Given the description of an element on the screen output the (x, y) to click on. 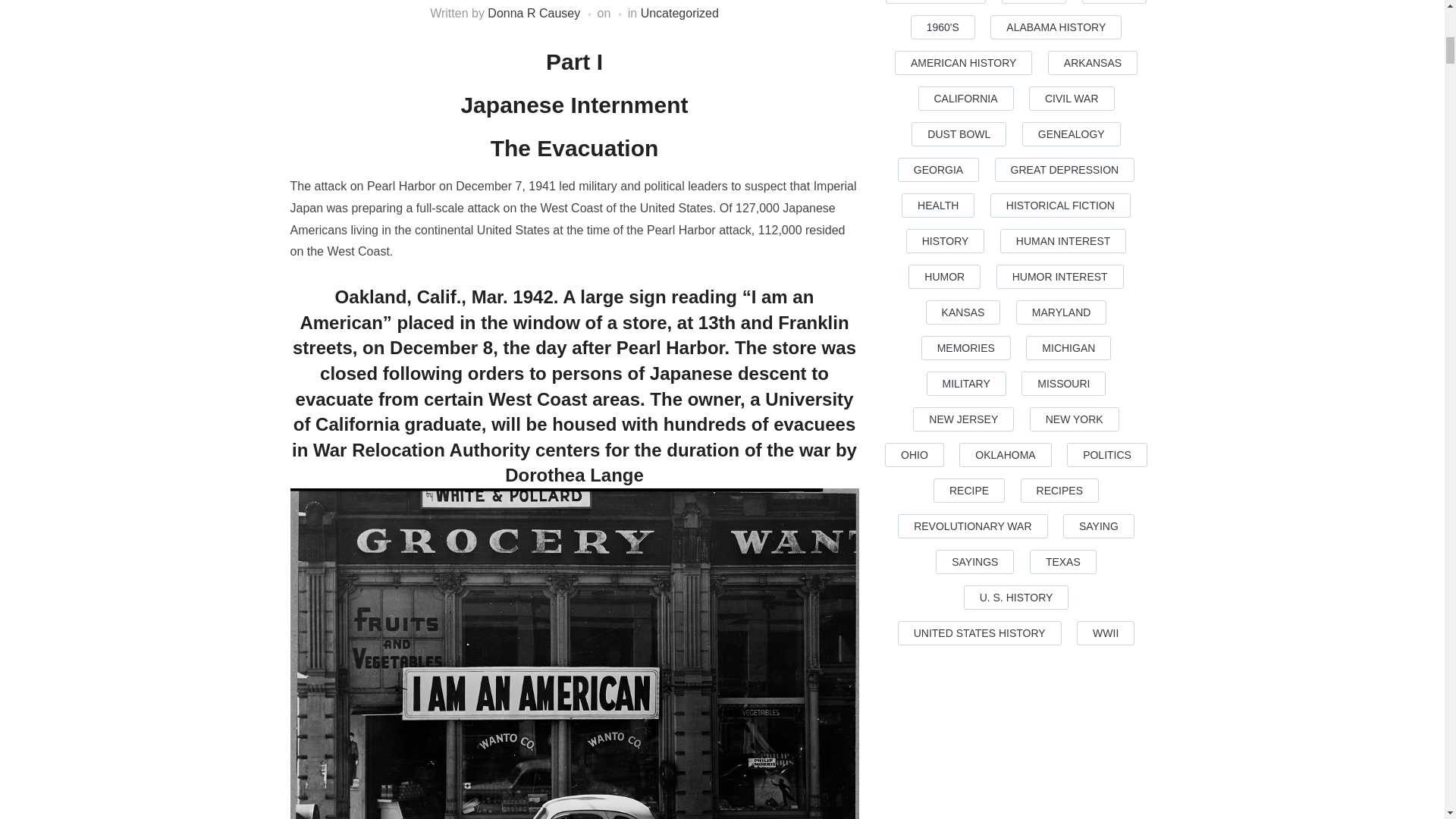
Uncategorized (679, 12)
Posts by Donna R Causey (533, 12)
Donna R Causey (533, 12)
